Given the description of an element on the screen output the (x, y) to click on. 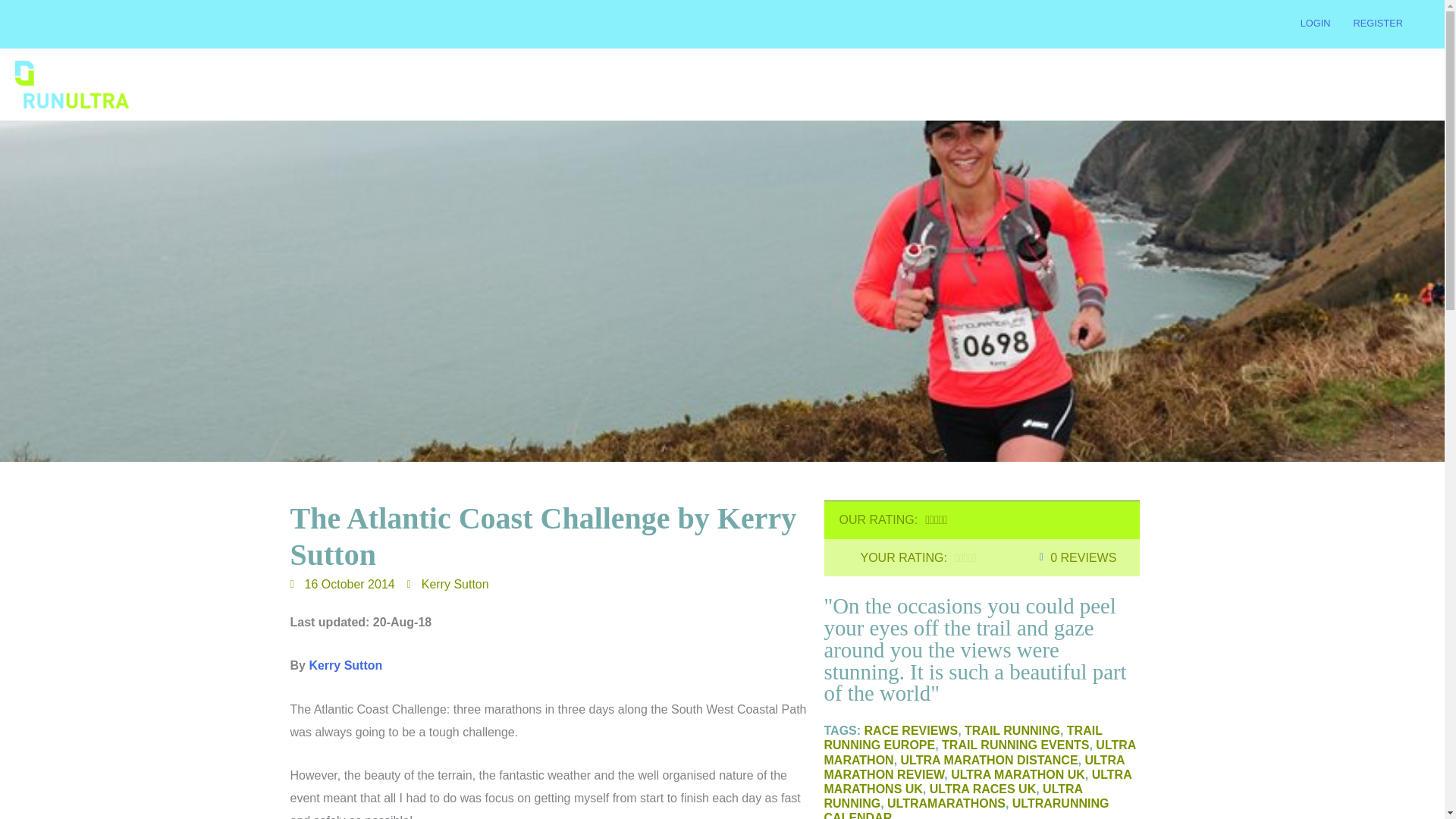
PARTNERS (1295, 84)
TRAIL RUNNING EUROPE (963, 737)
ULTRAMARATHONS (946, 802)
REGISTER (1377, 23)
ULTRA RUNNING (952, 795)
ULTRARUNNING CALENDAR (966, 807)
TRAINING (1062, 84)
CONTACT US (1382, 84)
ULTRA MARATHON REVIEW (974, 767)
GEAR REVIEWS (971, 84)
NEWS (890, 84)
FIND EVENTS (815, 84)
ULTRA MARATHON (979, 751)
LOGIN (1315, 23)
Kerry Sutton (344, 665)
